Given the description of an element on the screen output the (x, y) to click on. 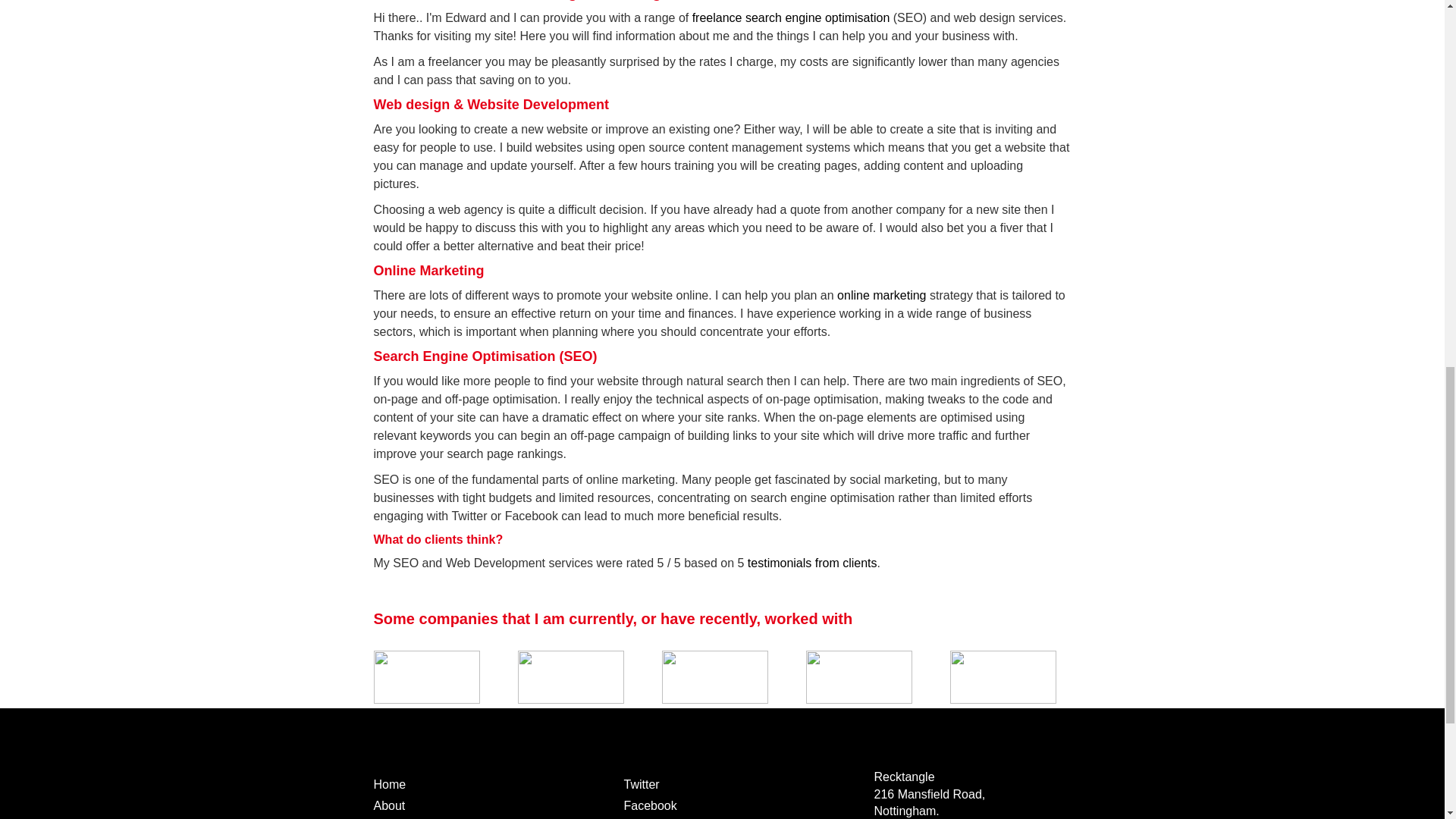
online marketing (881, 295)
About (388, 805)
freelance search engine optimisation (791, 17)
Facebook (650, 805)
Twitter (641, 784)
Home (389, 784)
testimonials from clients (812, 562)
